Given the description of an element on the screen output the (x, y) to click on. 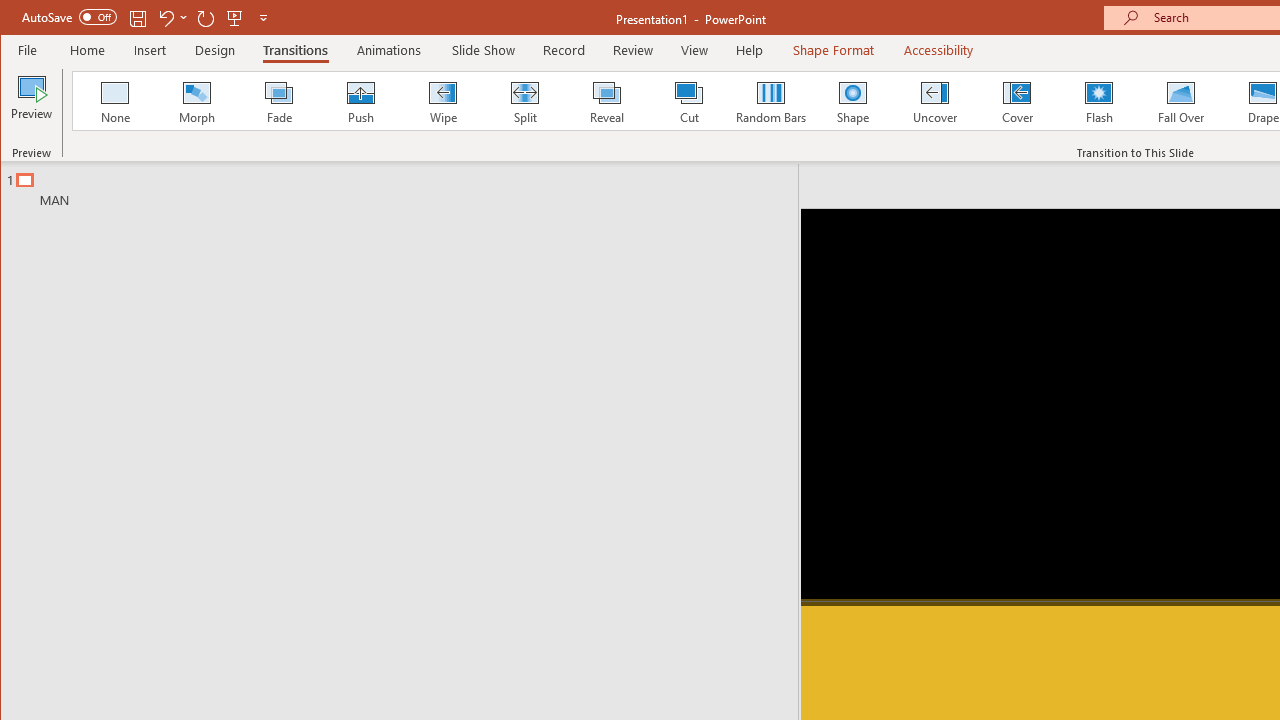
Fall Over (1181, 100)
Flash (1099, 100)
